Given the description of an element on the screen output the (x, y) to click on. 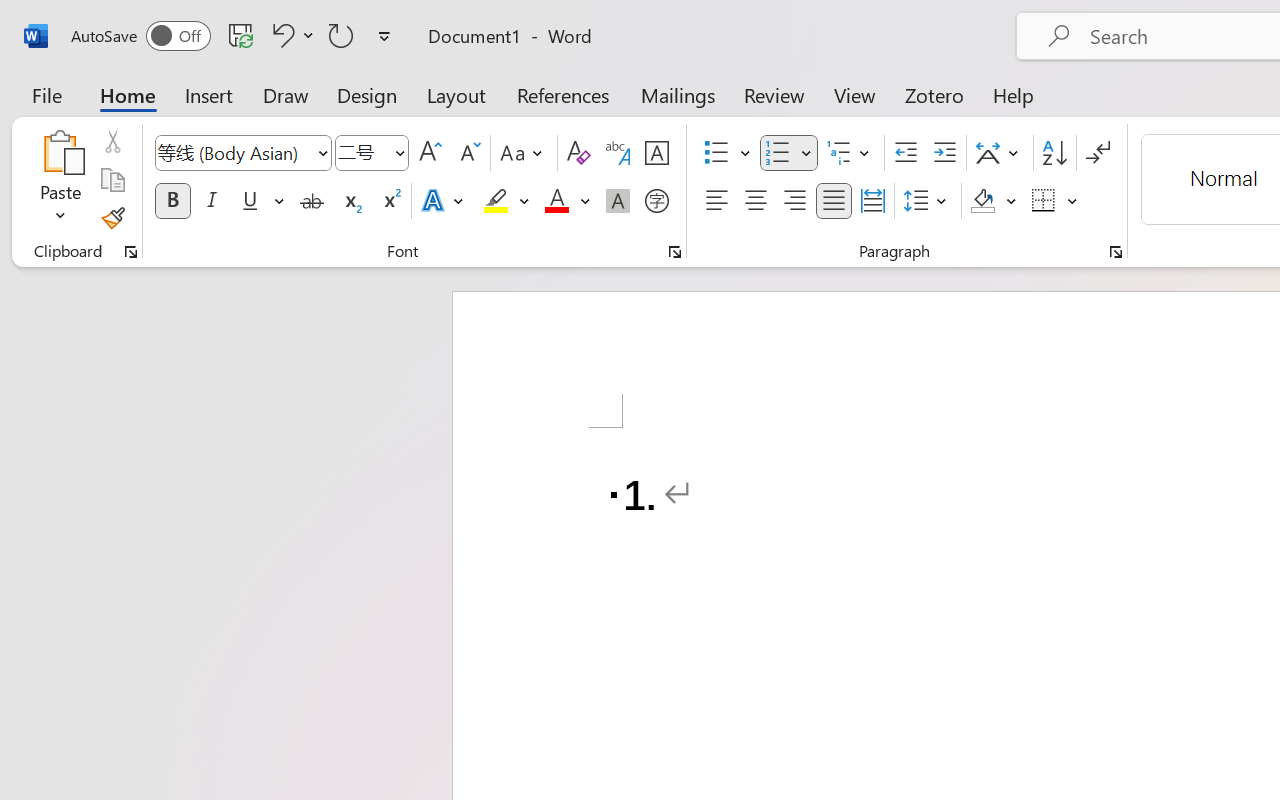
Undo Number Default (290, 35)
